Given the description of an element on the screen output the (x, y) to click on. 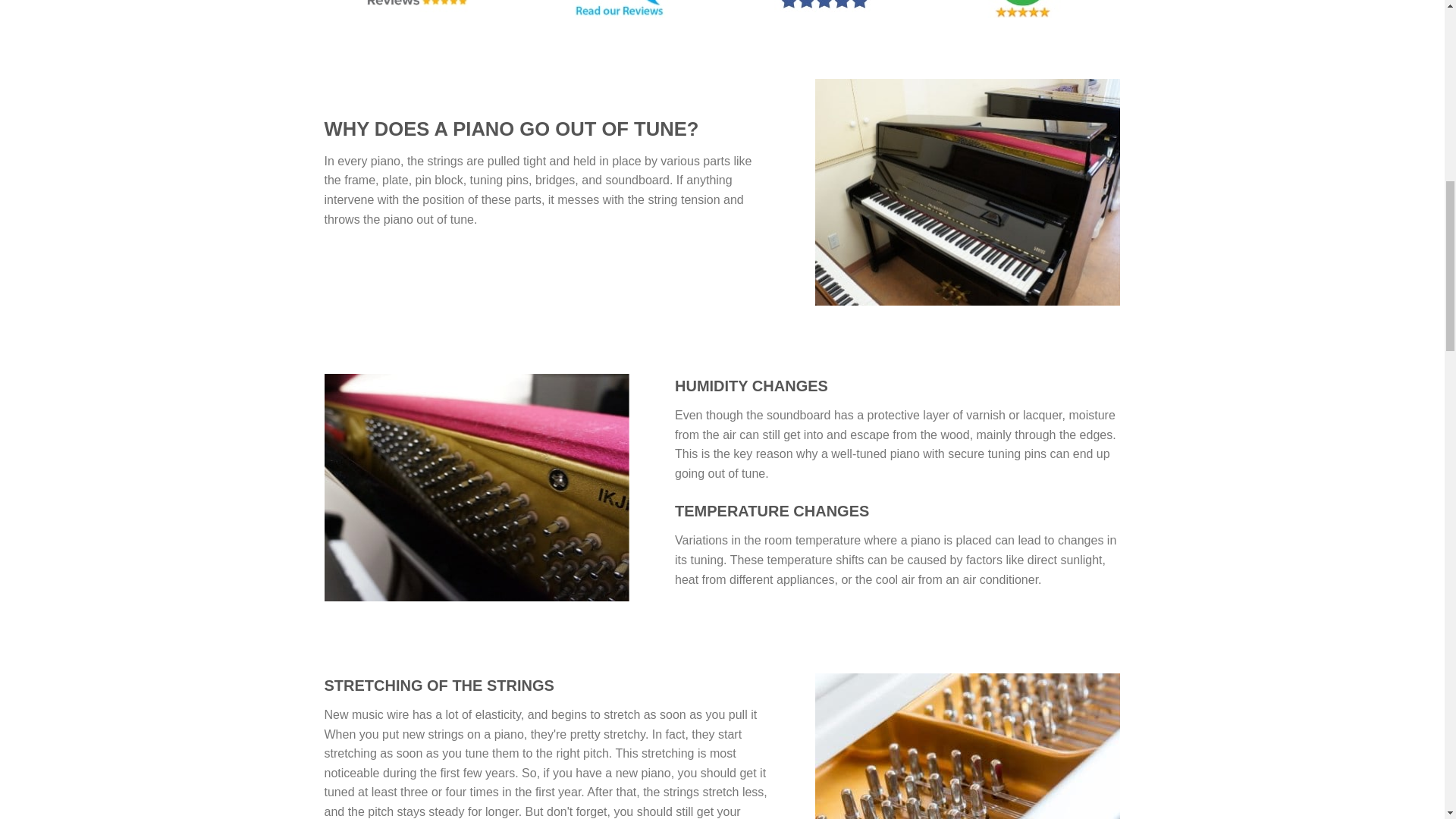
piano tune Stoufville (477, 487)
piano tune Stoufville (967, 746)
piano tune Stoufville (968, 192)
